Given the description of an element on the screen output the (x, y) to click on. 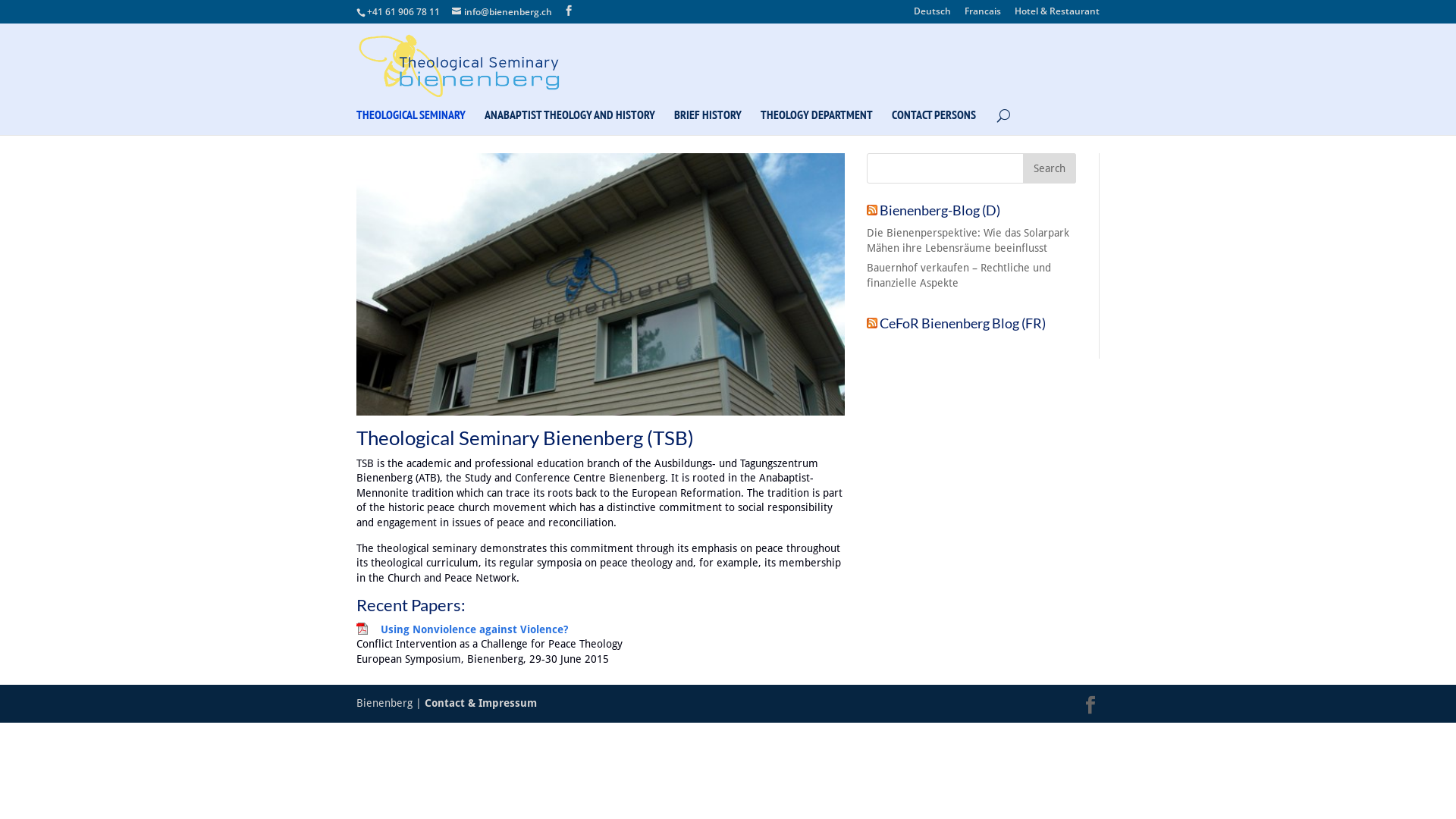
Hotel & Restaurant Element type: text (1056, 14)
CeFoR Bienenberg Blog (FR) Element type: text (962, 322)
Deutsch Element type: text (931, 14)
THEOLOGICAL SEMINARY Element type: text (410, 121)
CONTACT PERSONS Element type: text (933, 121)
info@bienenberg.ch Element type: text (501, 11)
THEOLOGY DEPARTMENT Element type: text (816, 121)
Francais Element type: text (982, 14)
Search Element type: text (1049, 168)
Using Nonviolence against Violence? Element type: text (473, 629)
ANABAPTIST THEOLOGY AND HISTORY Element type: text (569, 121)
BRIEF HISTORY Element type: text (707, 121)
Contact & Impressum Element type: text (480, 702)
Bienenberg-Blog (D) Element type: text (939, 209)
